Given the description of an element on the screen output the (x, y) to click on. 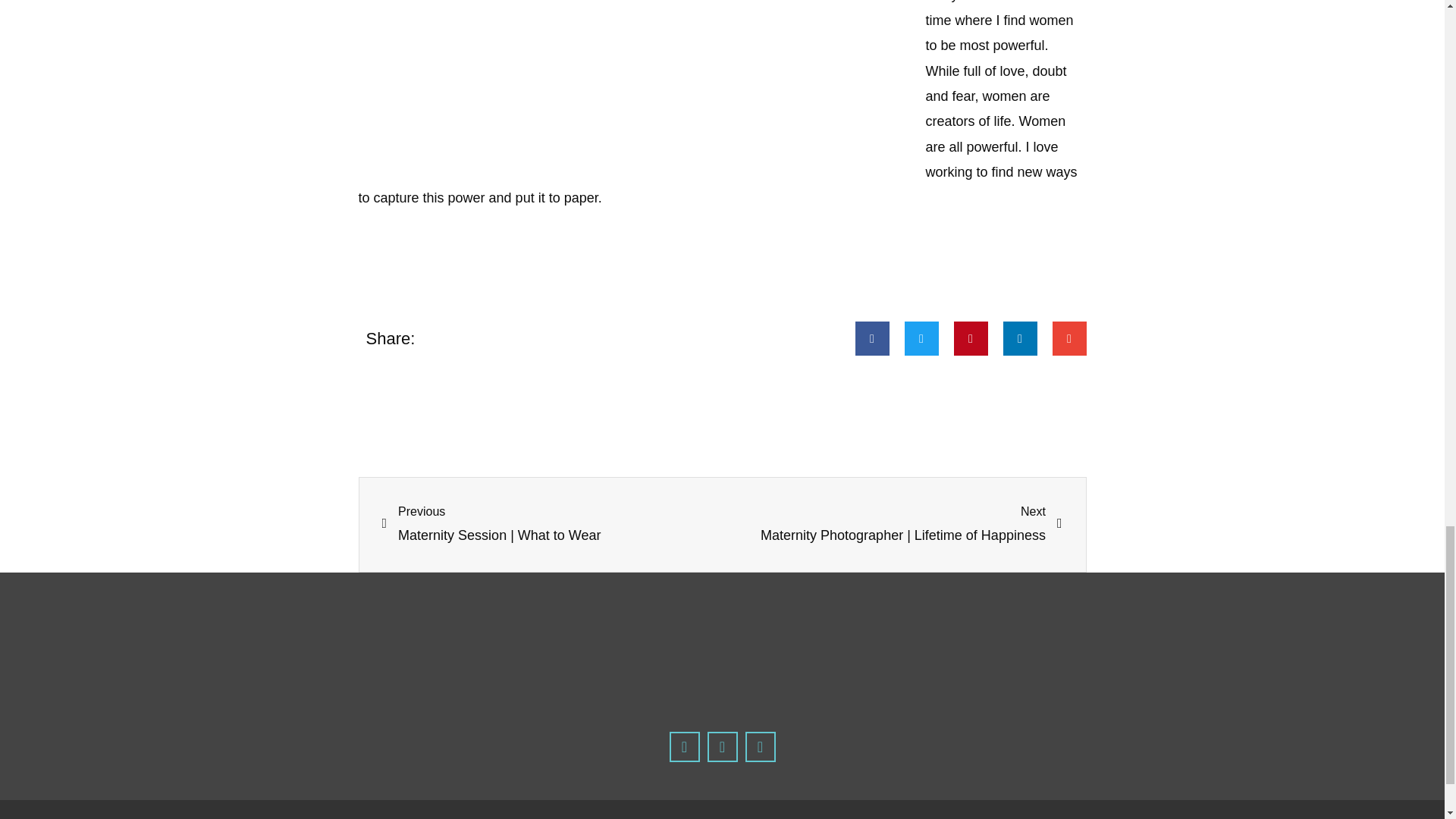
Facebook (683, 747)
Instagram (721, 747)
Youtube (759, 747)
